Given the description of an element on the screen output the (x, y) to click on. 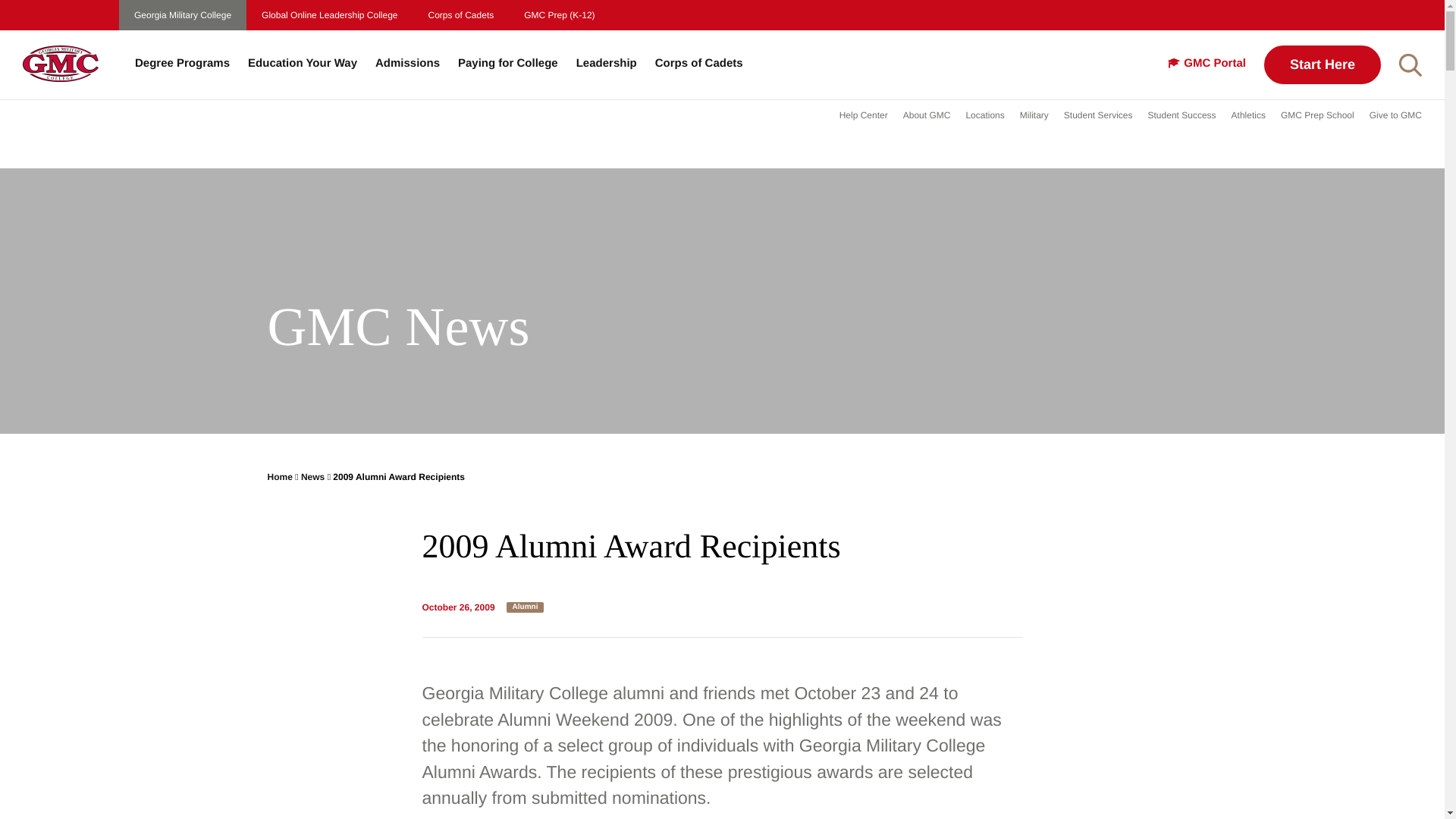
Corps of Cadets (461, 15)
Georgia Military College (182, 15)
Degree Programs (182, 63)
Education Your Way (301, 63)
Global Online Leadership College (329, 15)
